Given the description of an element on the screen output the (x, y) to click on. 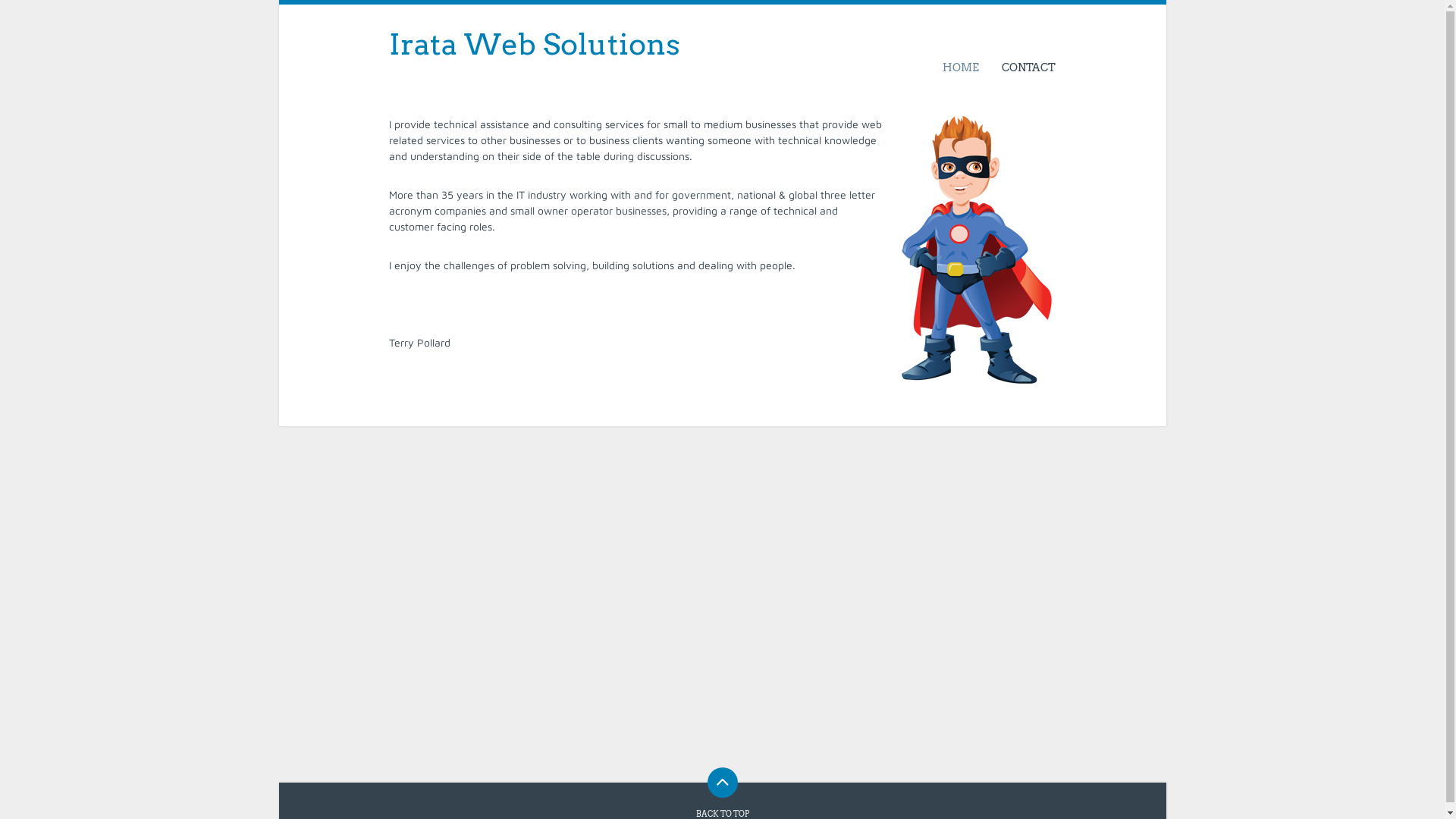
CONTACT Element type: text (1022, 67)
Irata Web Solutions Element type: text (533, 44)
HOME Element type: text (960, 67)
